Given the description of an element on the screen output the (x, y) to click on. 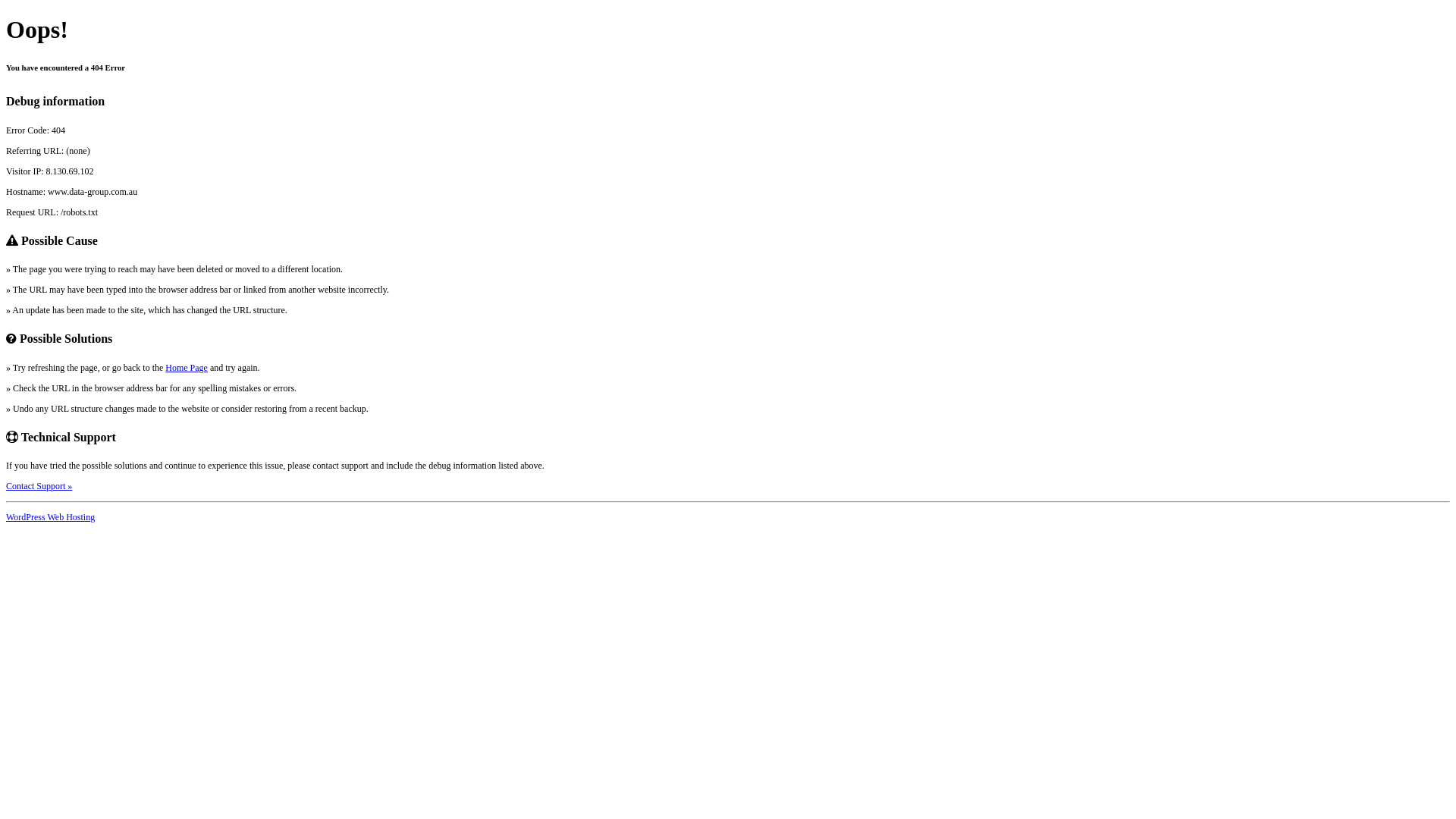
WordPress Web Hosting Element type: text (50, 516)
Home Page Element type: text (186, 367)
